Given the description of an element on the screen output the (x, y) to click on. 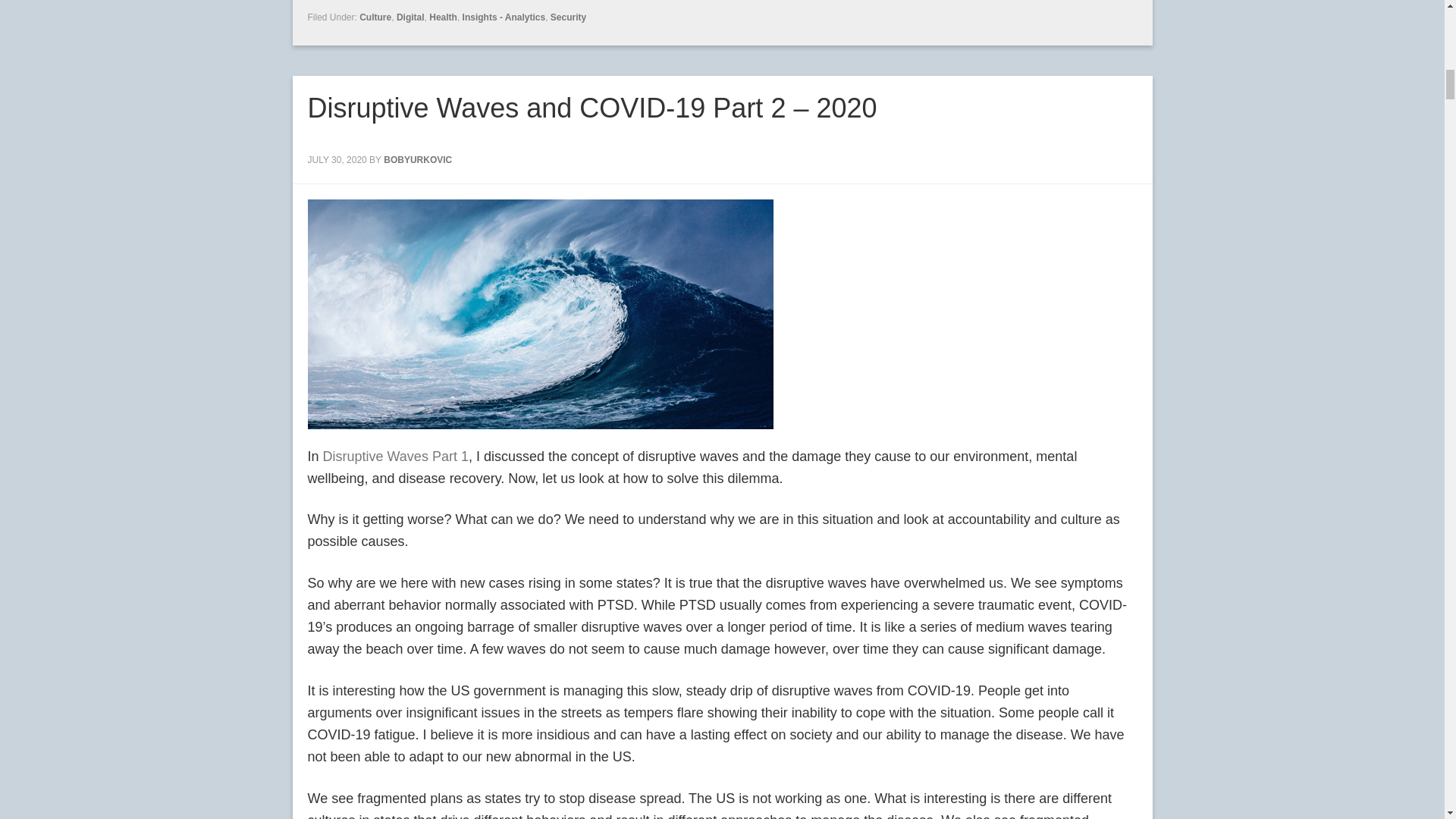
Culture (375, 17)
Security (568, 17)
Health (443, 17)
Insights - Analytics (504, 17)
BOBYURKOVIC (417, 159)
Disruptive Waves Part 1 (395, 456)
Digital (410, 17)
